Given the description of an element on the screen output the (x, y) to click on. 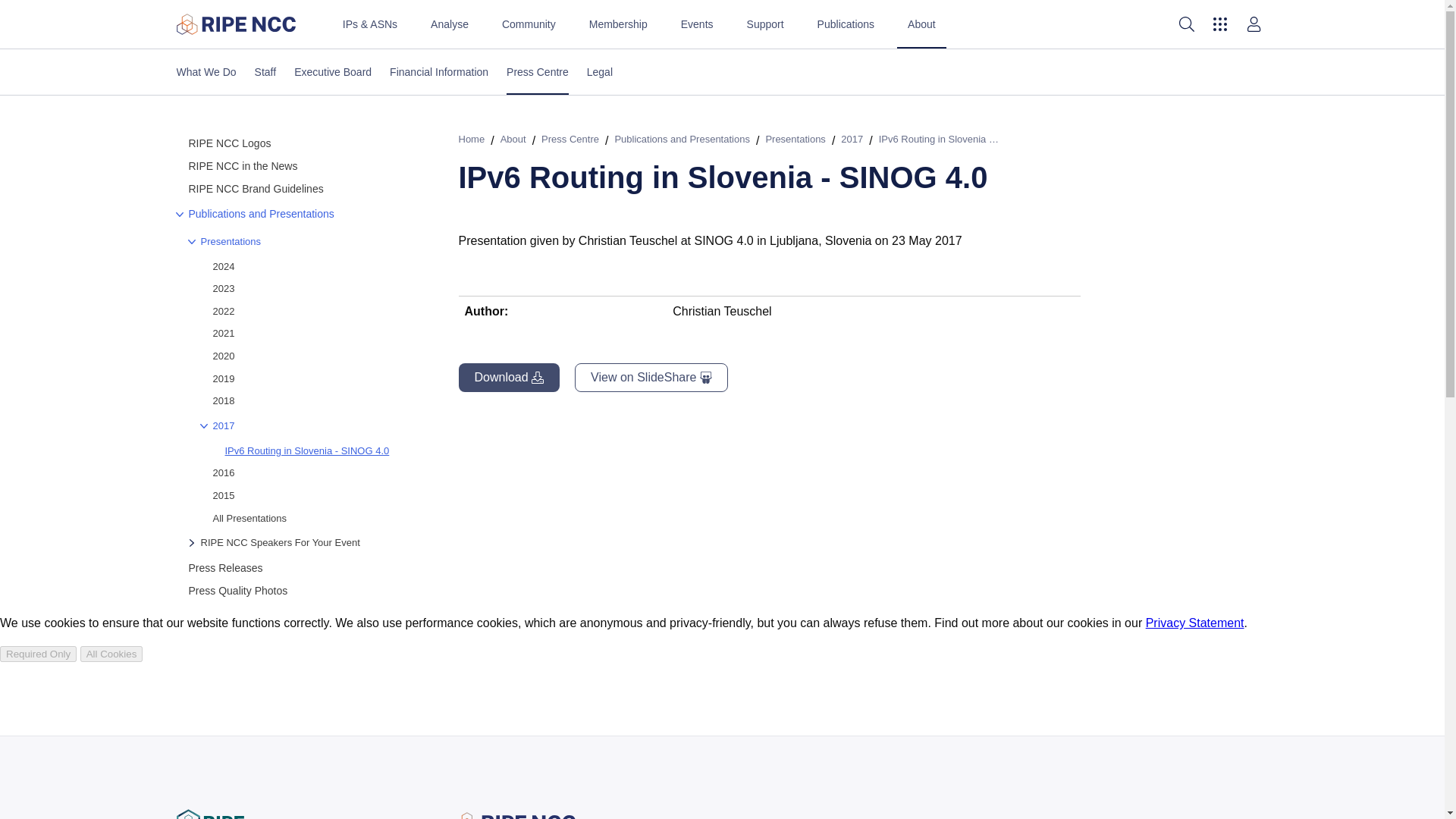
Analyse (449, 24)
Go to homepage (235, 23)
